Given the description of an element on the screen output the (x, y) to click on. 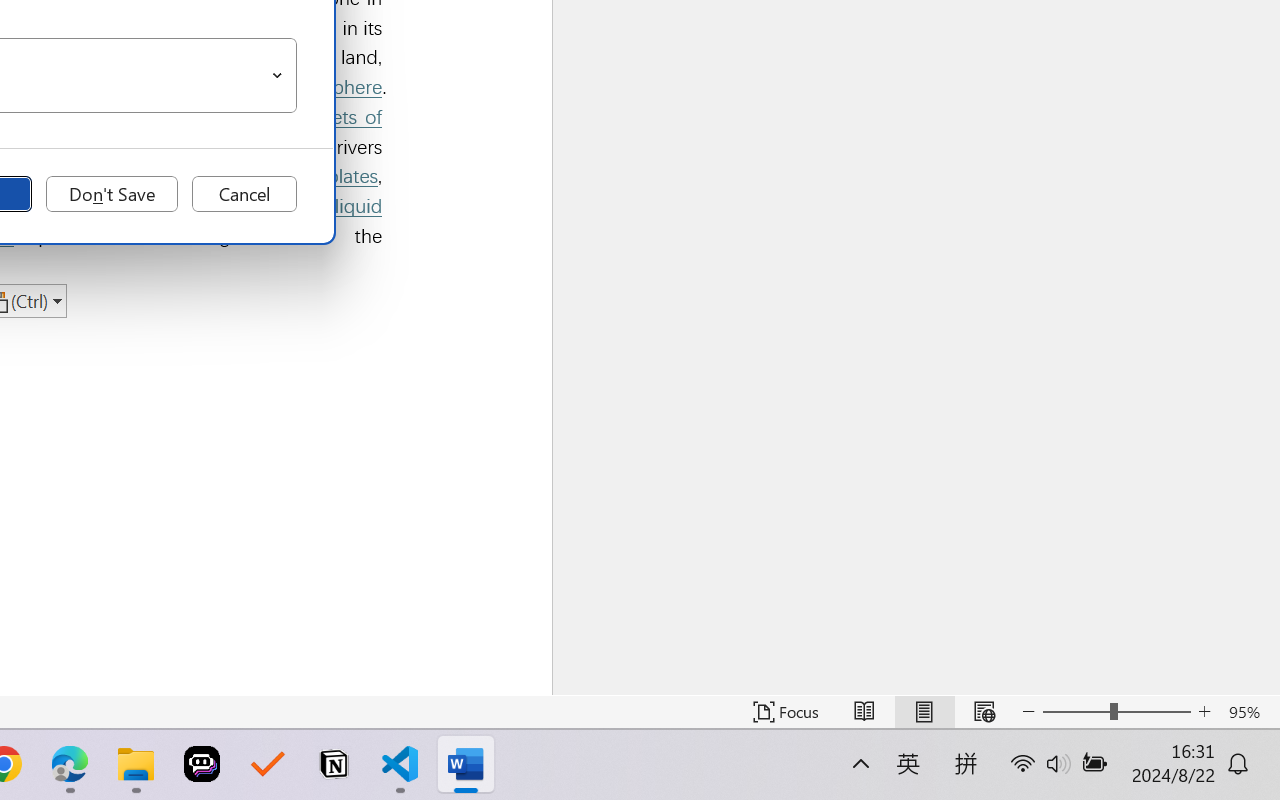
Zoom 95% (1249, 712)
Open (277, 75)
Poe (201, 764)
